Given the description of an element on the screen output the (x, y) to click on. 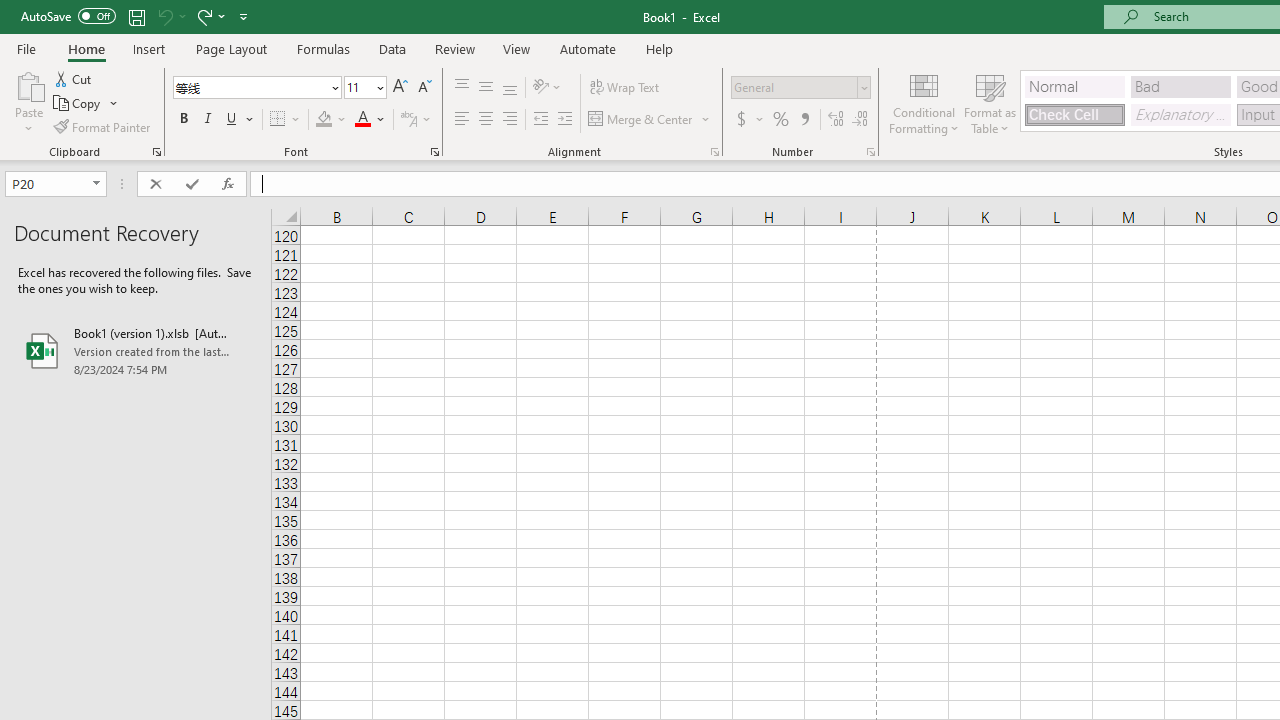
Font (250, 87)
Number Format (800, 87)
AutoSave (68, 16)
Borders (285, 119)
Italic (207, 119)
Check Cell (1074, 114)
Conditional Formatting (924, 102)
Decrease Indent (540, 119)
Merge & Center (649, 119)
Decrease Font Size (424, 87)
Paste (28, 84)
Cut (73, 78)
